Given the description of an element on the screen output the (x, y) to click on. 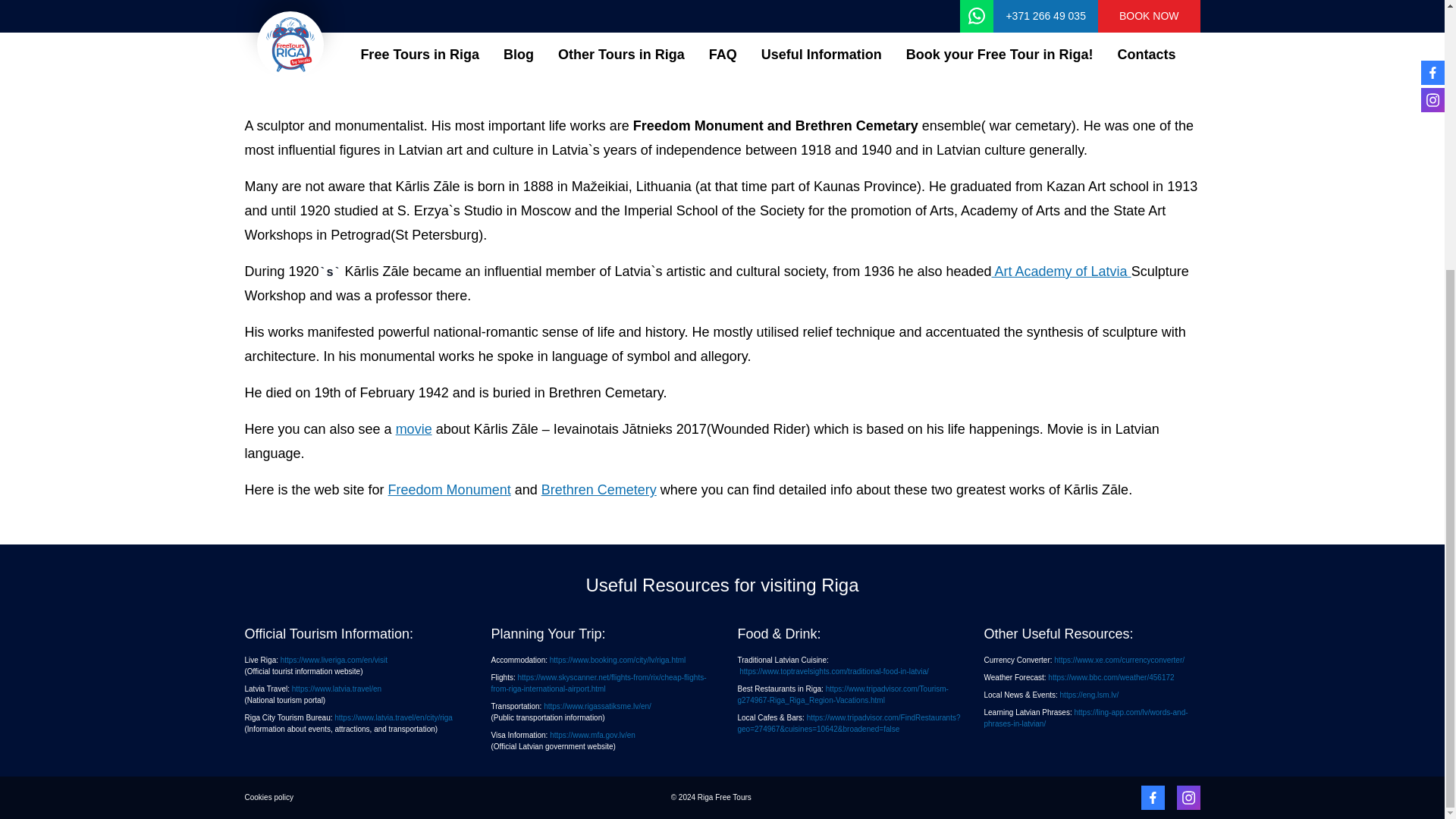
movie (414, 428)
Brethren Cemetery (598, 489)
 Art Academy of Latvia  (1061, 271)
Cookies policy (268, 796)
Freedom Monument (449, 489)
